Given the description of an element on the screen output the (x, y) to click on. 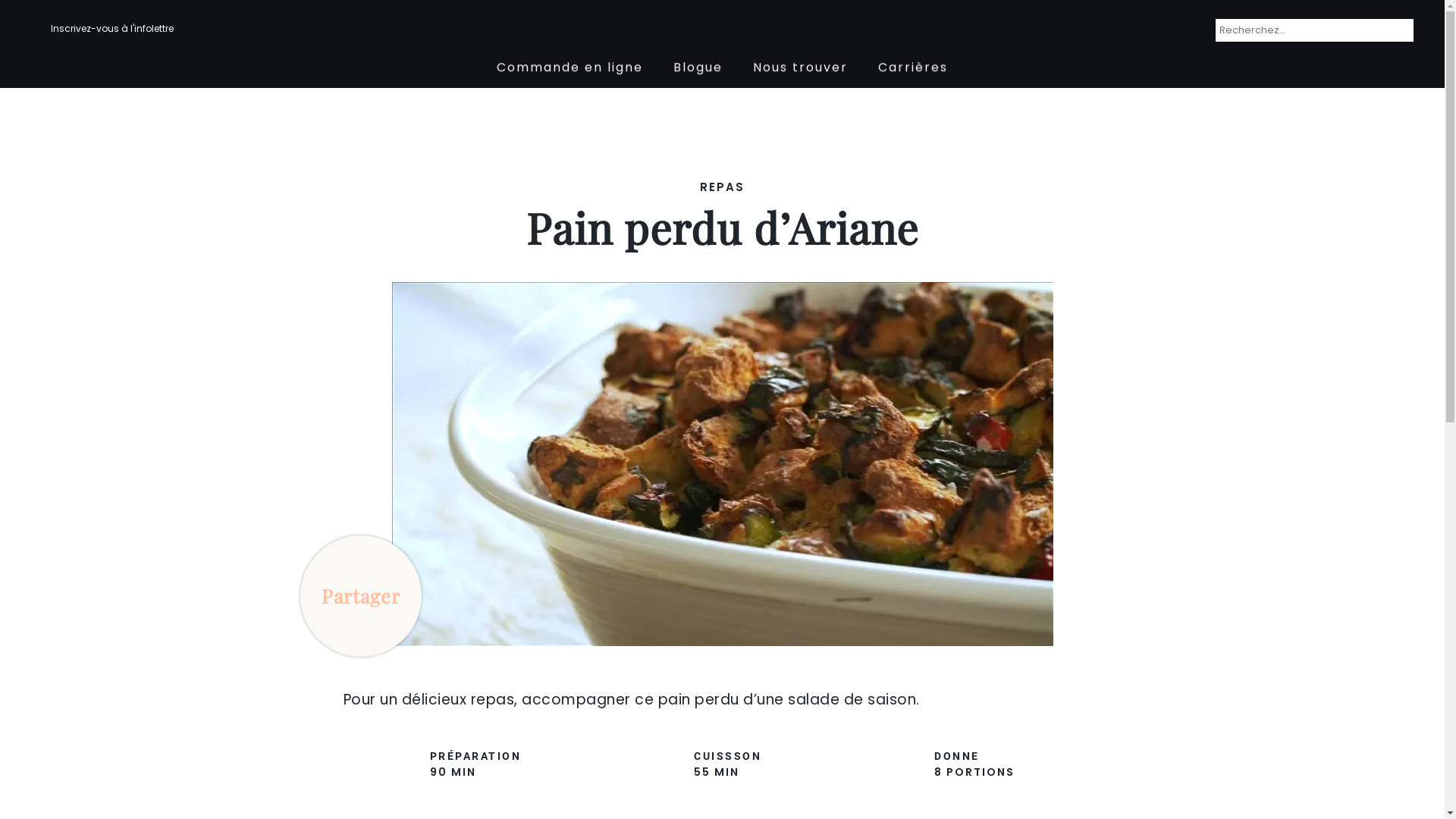
Blogue Element type: text (697, 66)
Nous trouver Element type: text (800, 66)
Commande en ligne Element type: text (569, 66)
REPAS Element type: text (721, 187)
